Given the description of an element on the screen output the (x, y) to click on. 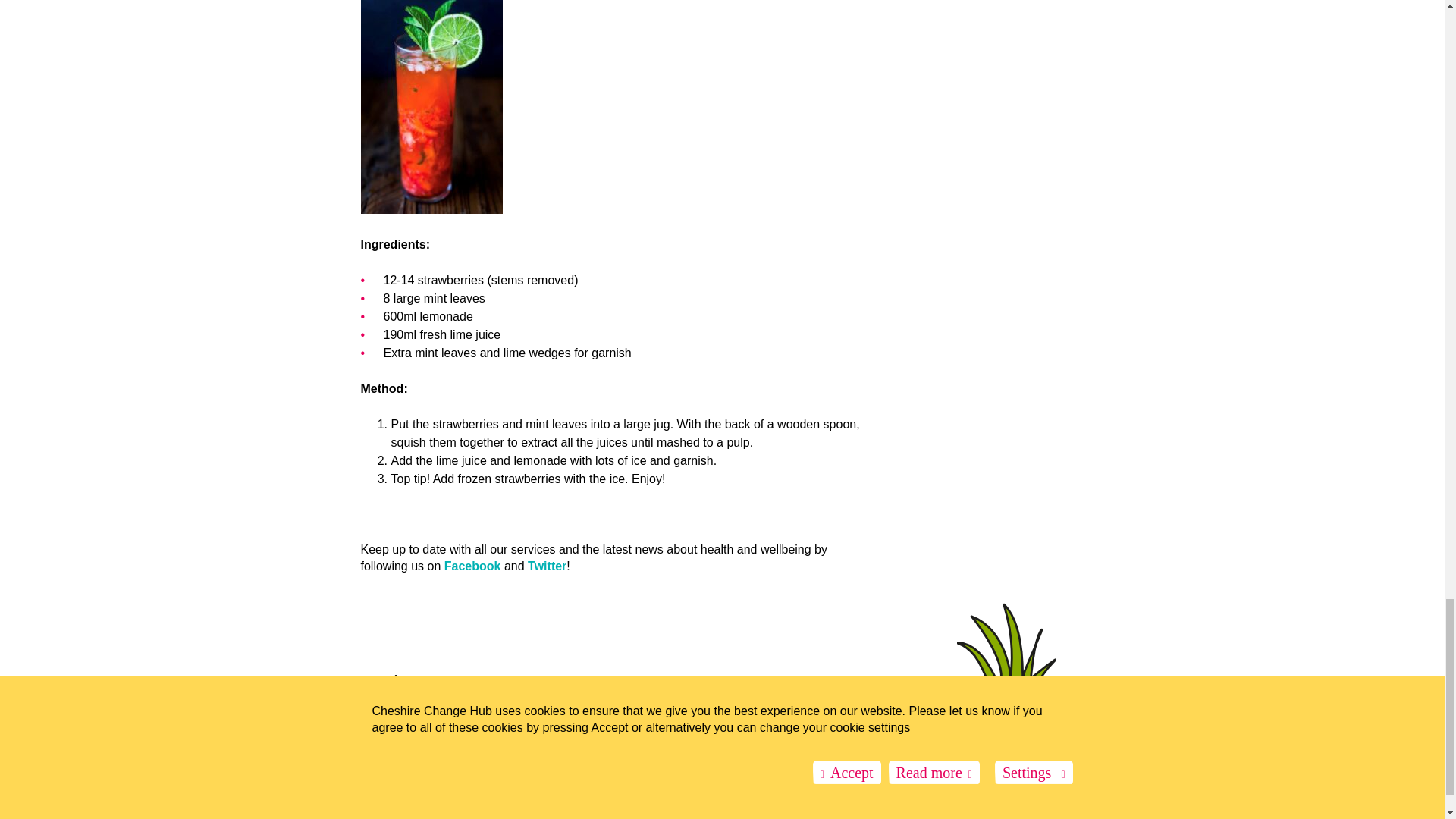
Accessibility Policy (596, 790)
Partners (378, 790)
Twitter (546, 565)
Privacy Policy (523, 790)
Website terms of use (445, 790)
Facebook (472, 565)
